Given the description of an element on the screen output the (x, y) to click on. 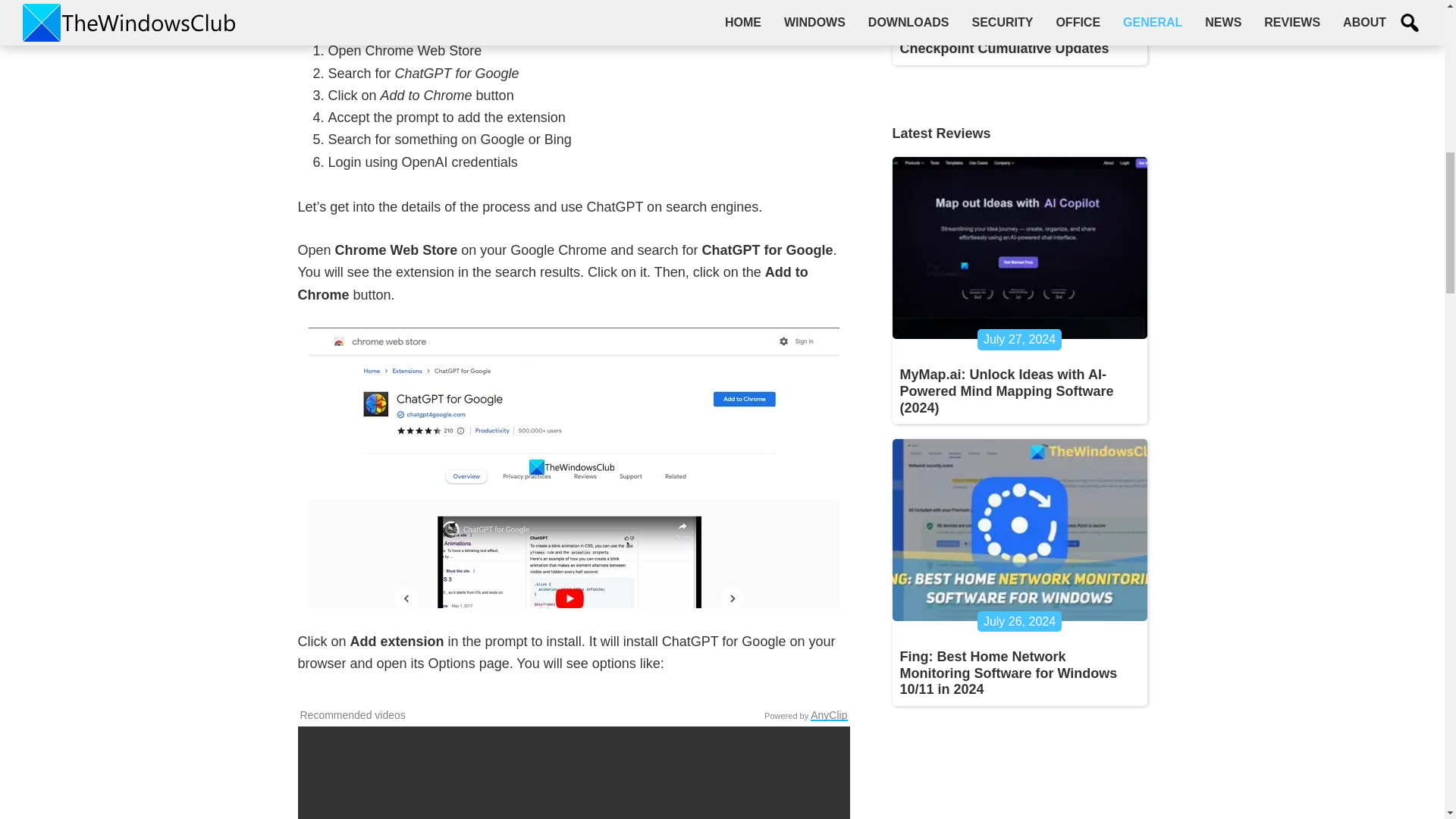
AnyClip (828, 715)
